Given the description of an element on the screen output the (x, y) to click on. 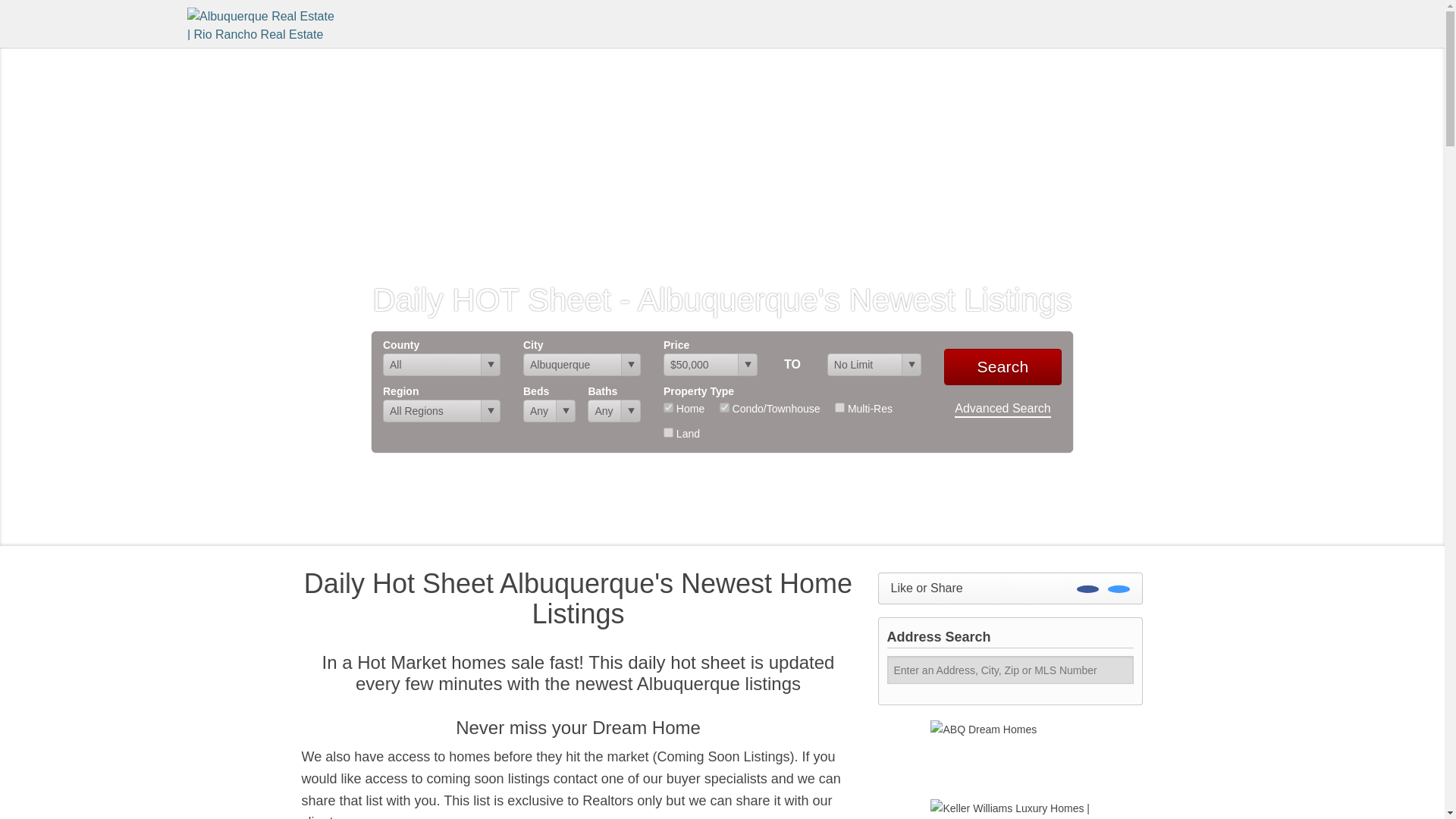
con (724, 407)
Search (1002, 366)
Advanced Search (1002, 409)
lnd (667, 432)
mul (839, 407)
Search (1002, 366)
res (667, 407)
